Given the description of an element on the screen output the (x, y) to click on. 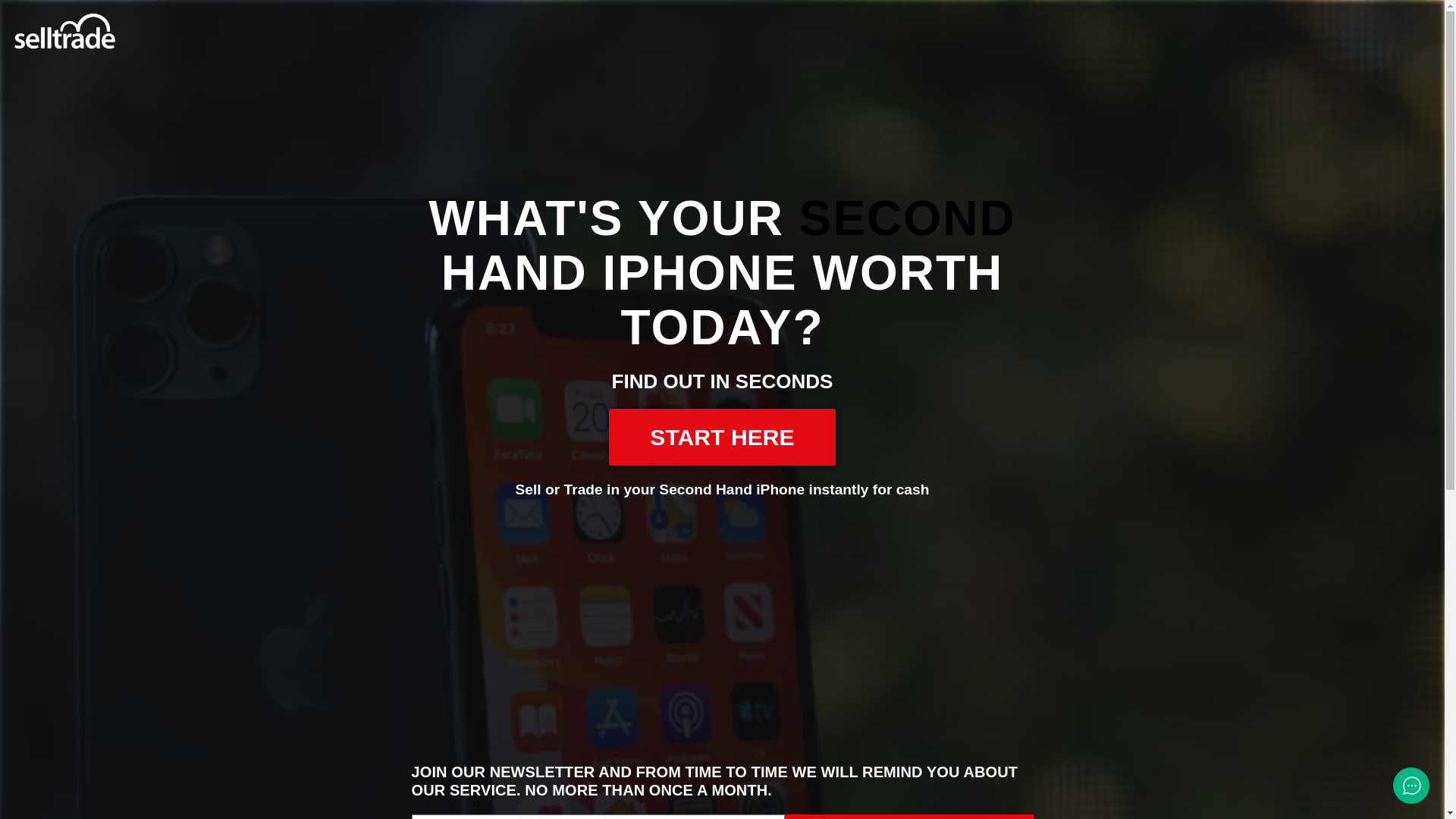
SUBSCRIBE (908, 816)
START HERE (721, 437)
